Given the description of an element on the screen output the (x, y) to click on. 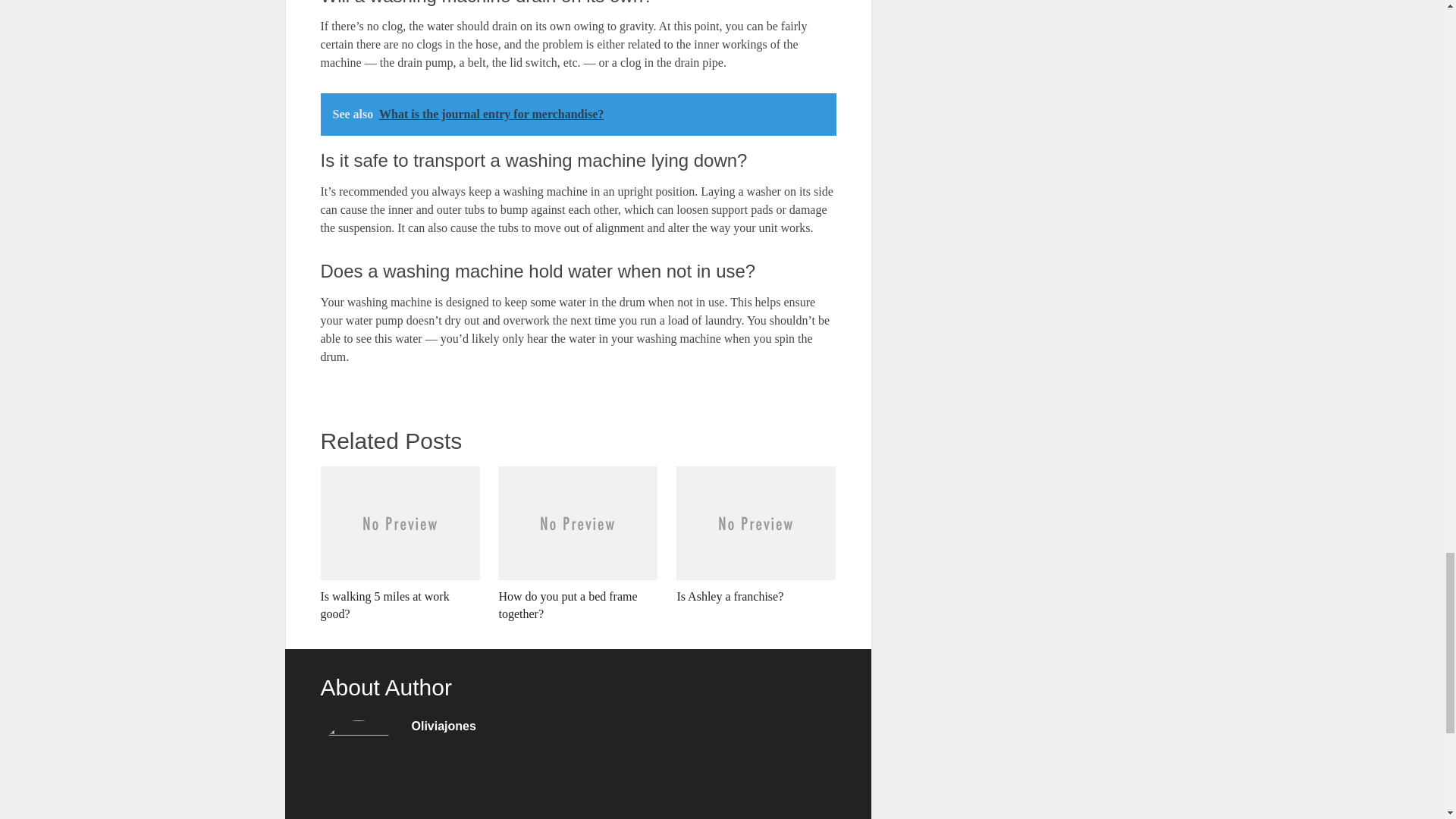
How do you put a bed frame together? (577, 544)
Is walking 5 miles at work good? (399, 544)
Is Ashley a franchise? (756, 535)
See also  What is the journal entry for merchandise? (577, 114)
